Given the description of an element on the screen output the (x, y) to click on. 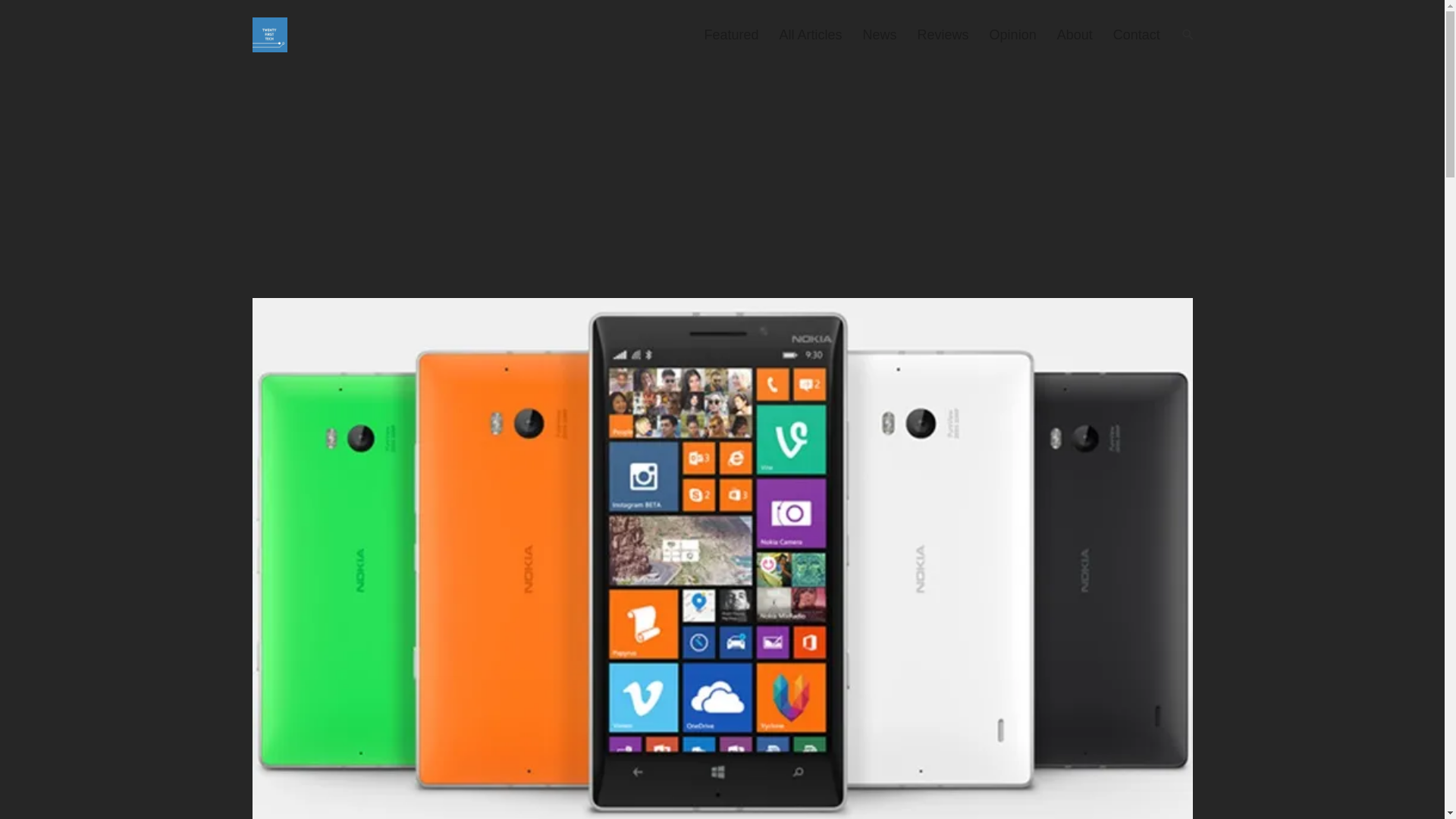
Contact (1136, 35)
Featured (731, 35)
Reviews (942, 35)
News (879, 35)
About (1074, 35)
All Articles (809, 35)
Opinion (1012, 35)
